Given the description of an element on the screen output the (x, y) to click on. 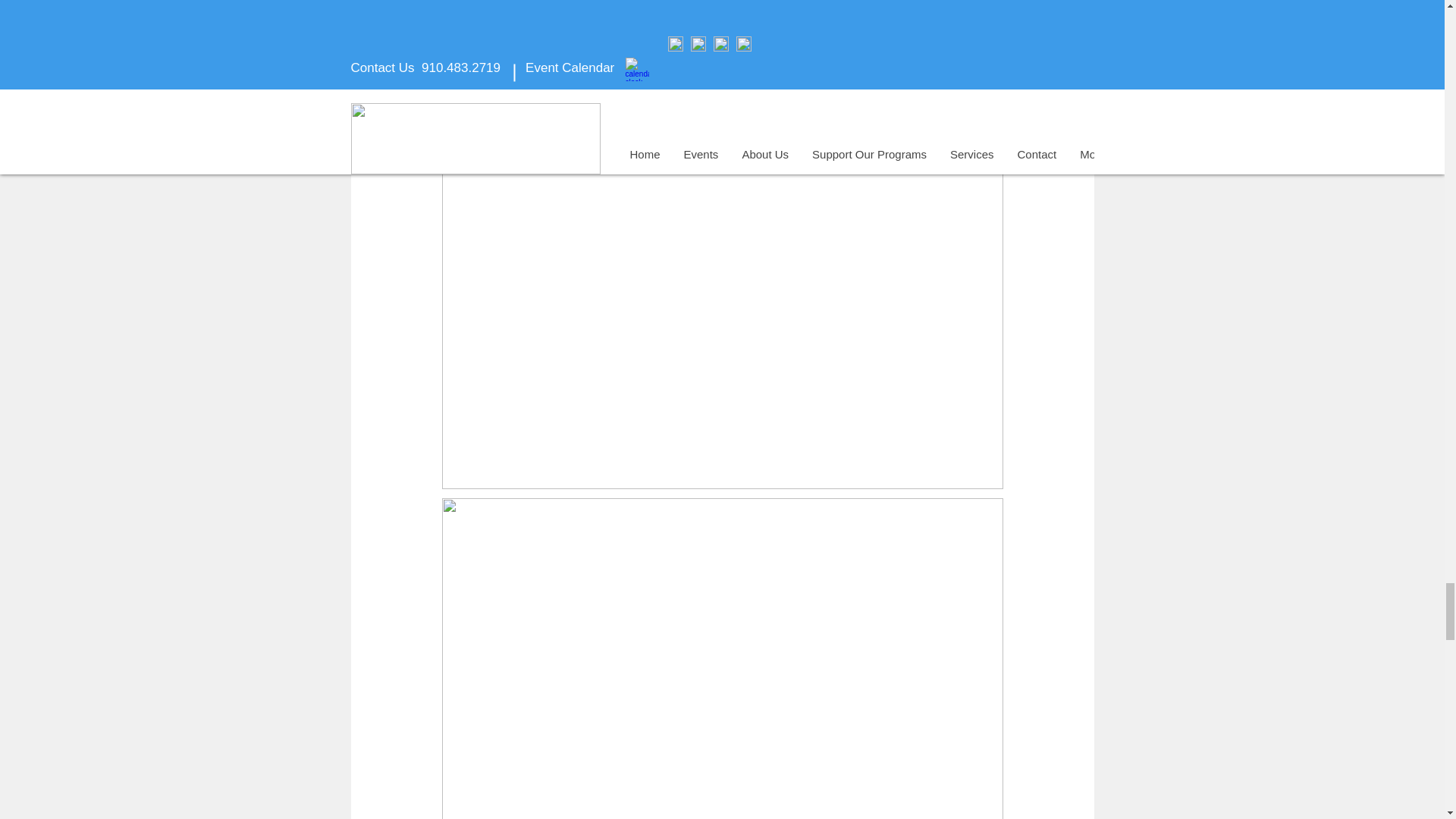
www.visionresourcecentercc.org. (855, 7)
FOOD TRUCK APPLICATION FORM (756, 28)
TEAM REGISTRATION FORM (535, 28)
